Given the description of an element on the screen output the (x, y) to click on. 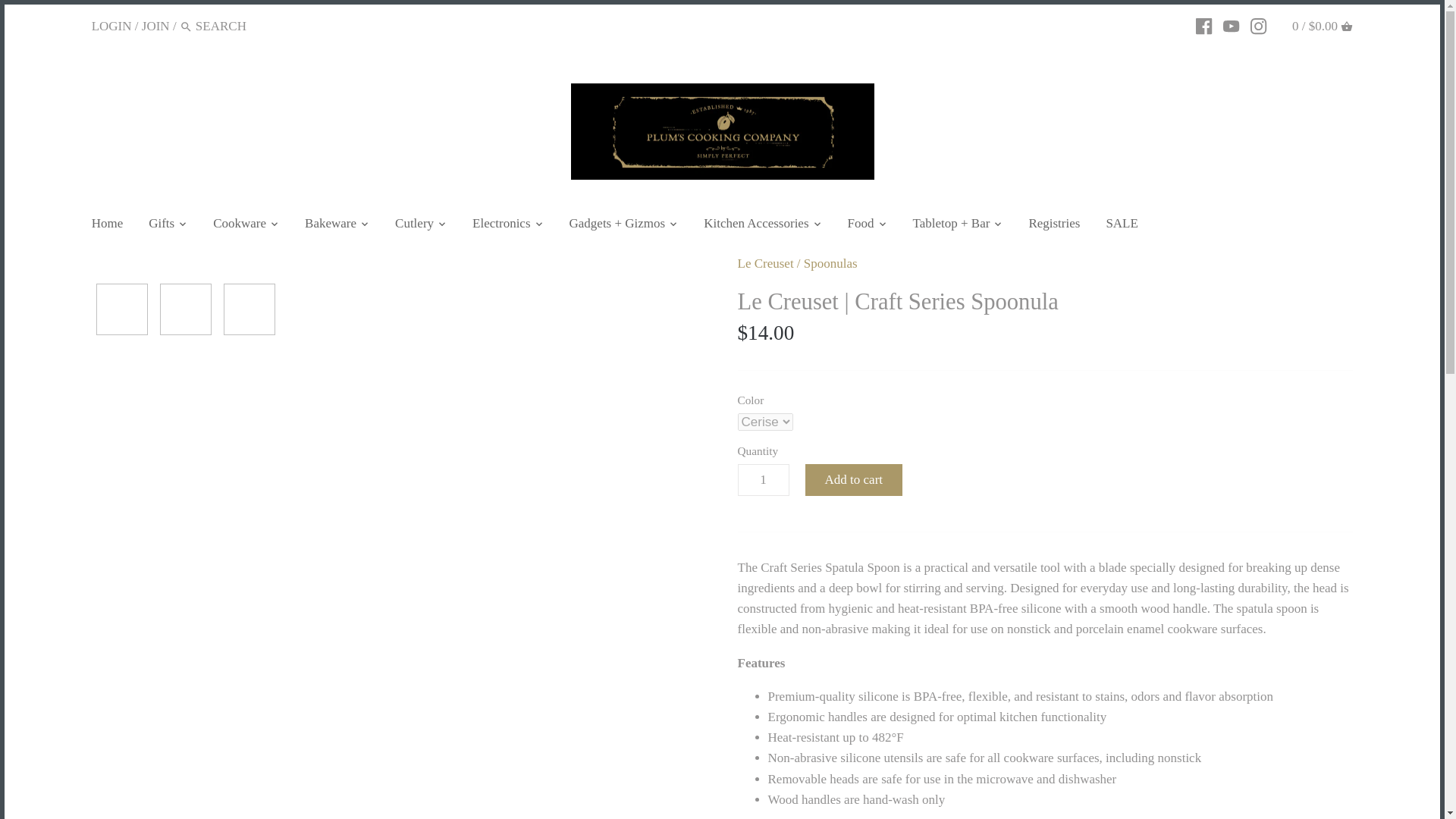
LOGIN (111, 25)
1 (762, 480)
Cookware (239, 225)
CART (1346, 26)
Facebook (1203, 24)
JOIN (155, 25)
YOUTUBE (1231, 26)
Search (185, 25)
YOUTUBE (1231, 24)
Search (185, 27)
Gifts (161, 225)
Instagram (1258, 24)
FACEBOOK (1203, 26)
Youtube (1231, 24)
Home (113, 225)
